Given the description of an element on the screen output the (x, y) to click on. 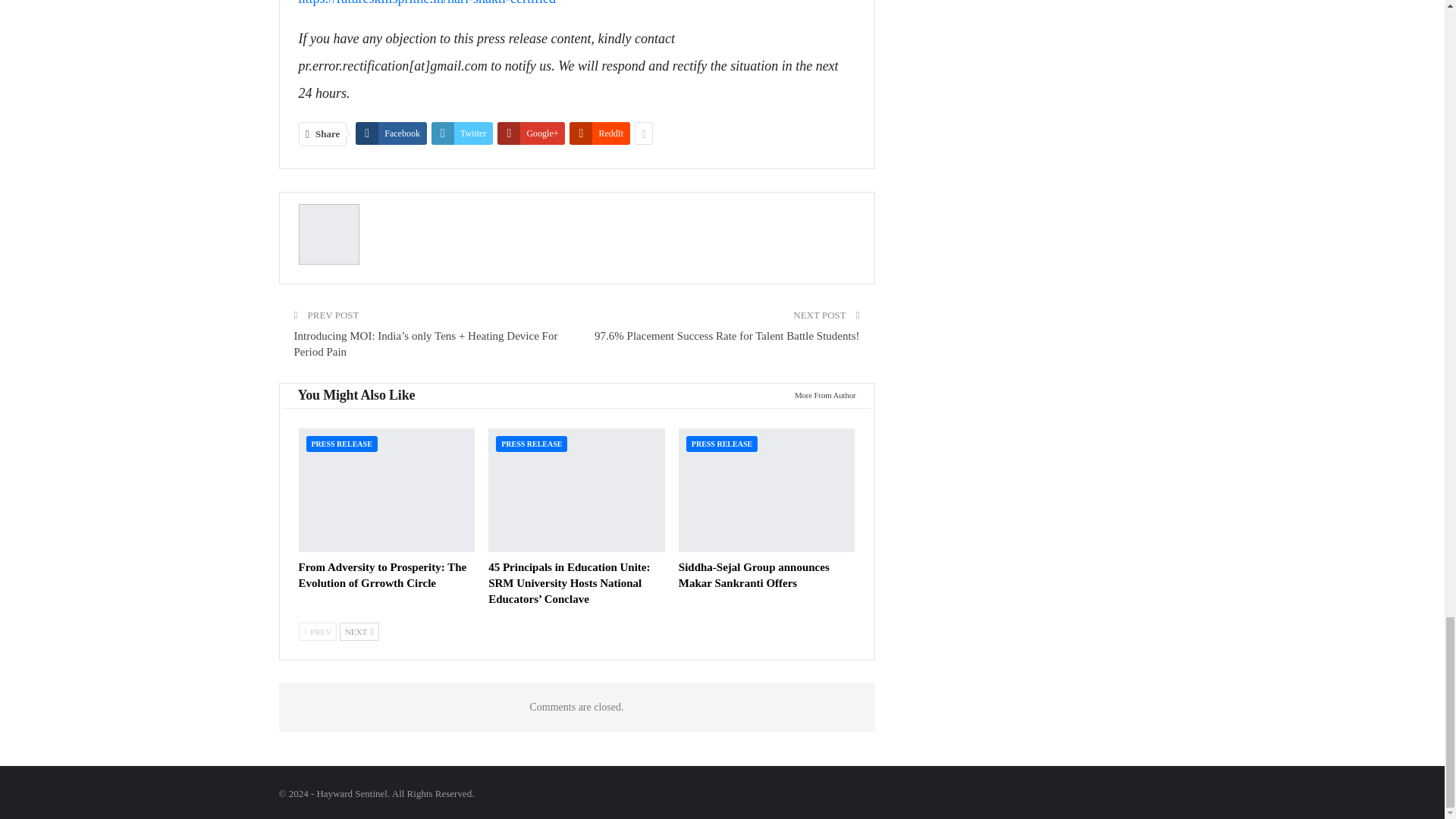
Siddha-Sejal Group announces Makar Sankranti Offers (767, 490)
You Might Also Like (355, 395)
Previous (317, 631)
Siddha-Sejal Group announces Makar Sankranti Offers (753, 574)
More From Author (821, 394)
Next (358, 631)
Facebook (390, 133)
Twitter (461, 133)
ReddIt (599, 133)
